Given the description of an element on the screen output the (x, y) to click on. 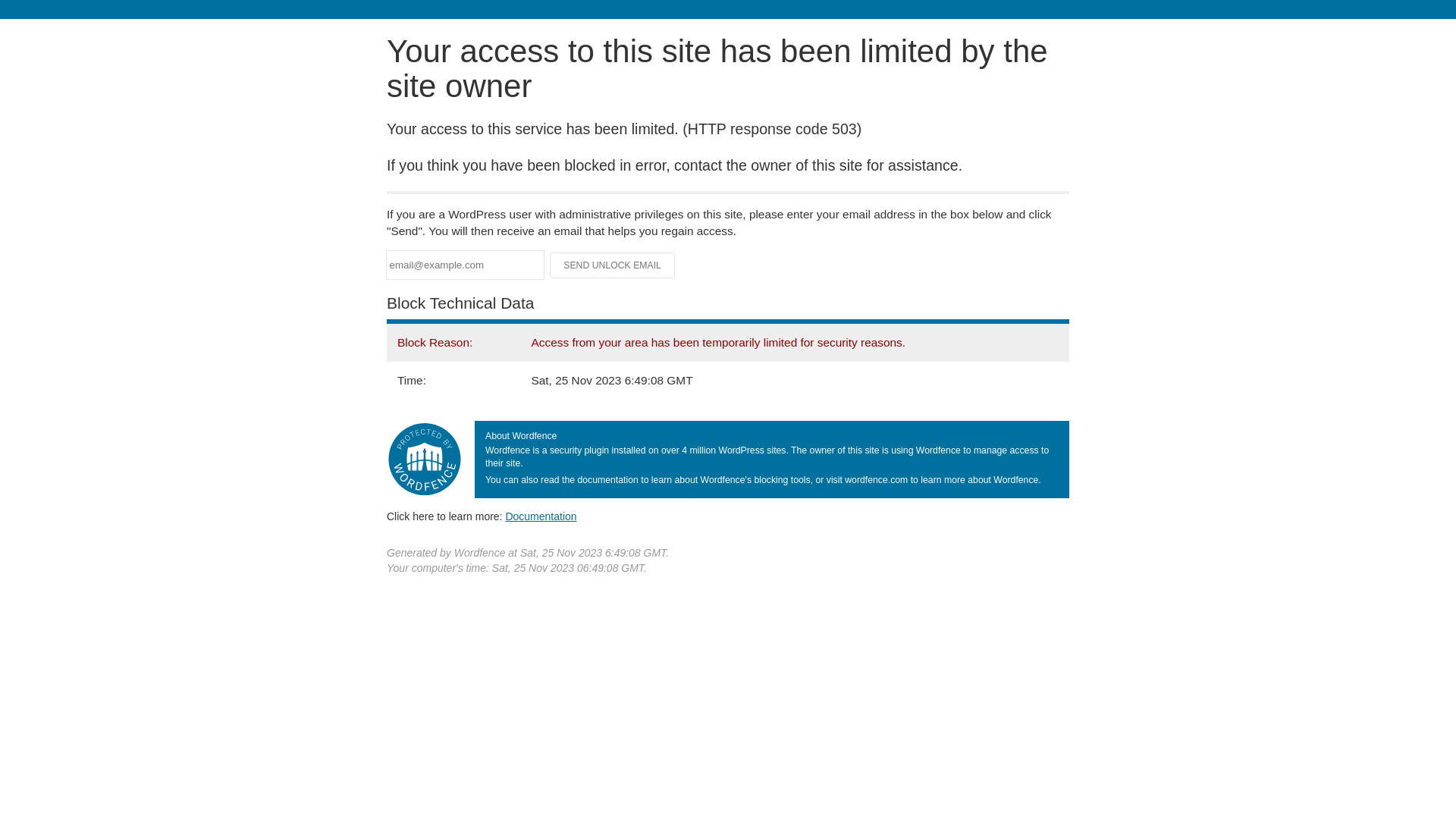
Send Unlock Email Element type: text (612, 265)
Documentation Element type: text (540, 516)
